Given the description of an element on the screen output the (x, y) to click on. 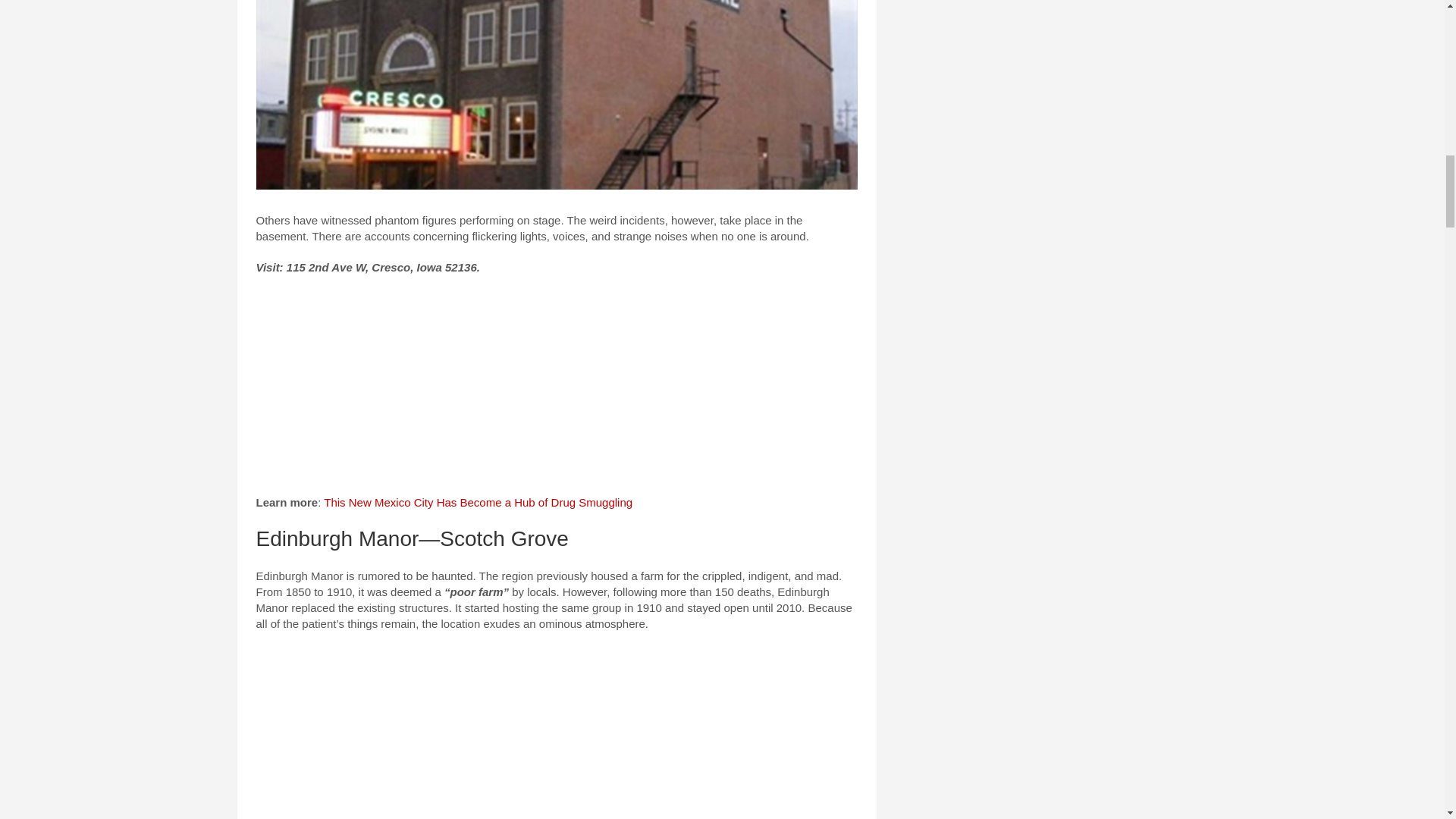
This New Mexico City Has Become a Hub of Drug Smuggling (477, 502)
